Given the description of an element on the screen output the (x, y) to click on. 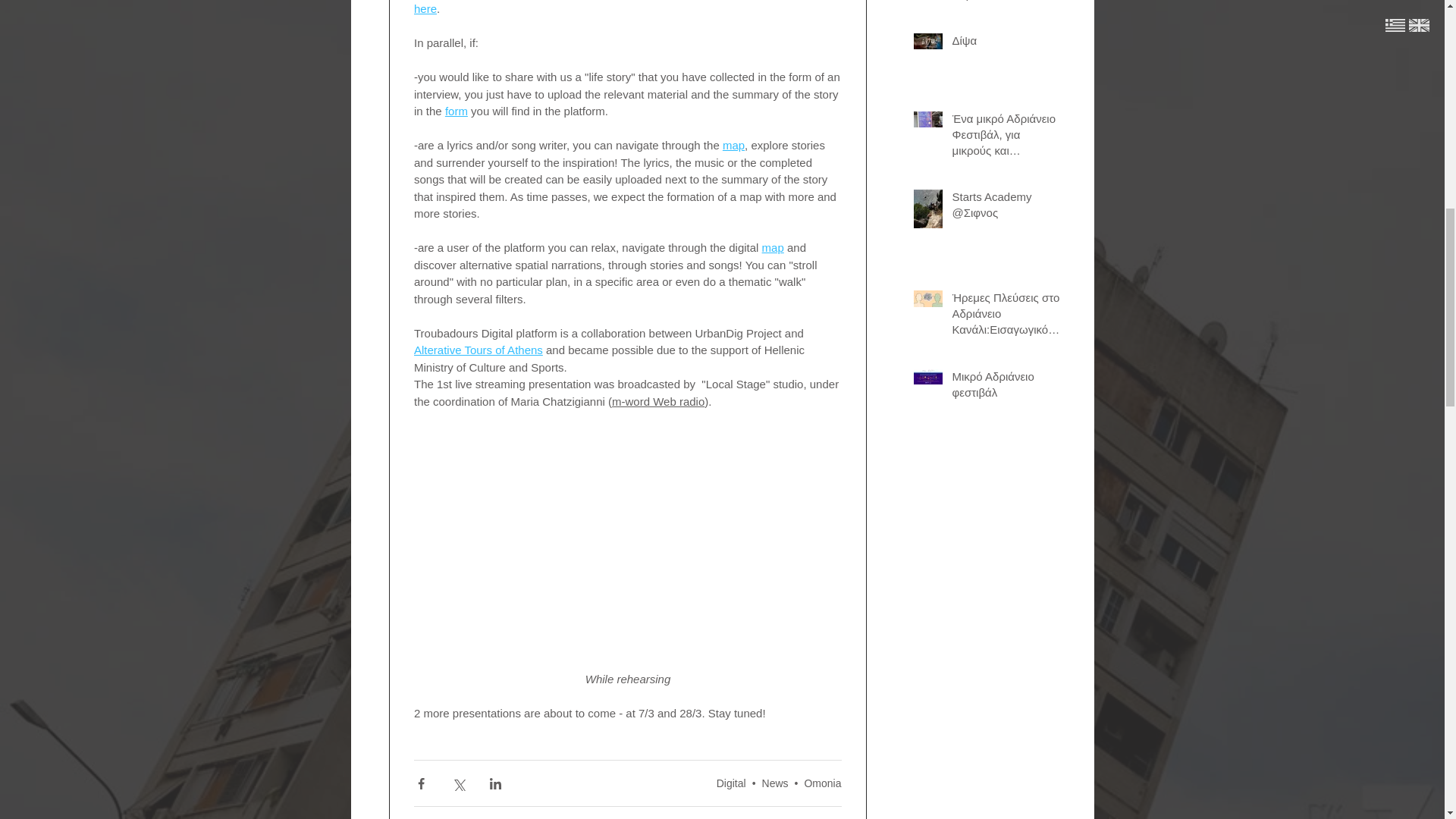
Digital (730, 783)
Alterative Tours of Athens (478, 349)
form (455, 110)
m-word Web radio (657, 400)
here (424, 8)
map (733, 144)
map (772, 246)
News (775, 783)
Omonia (822, 783)
